Given the description of an element on the screen output the (x, y) to click on. 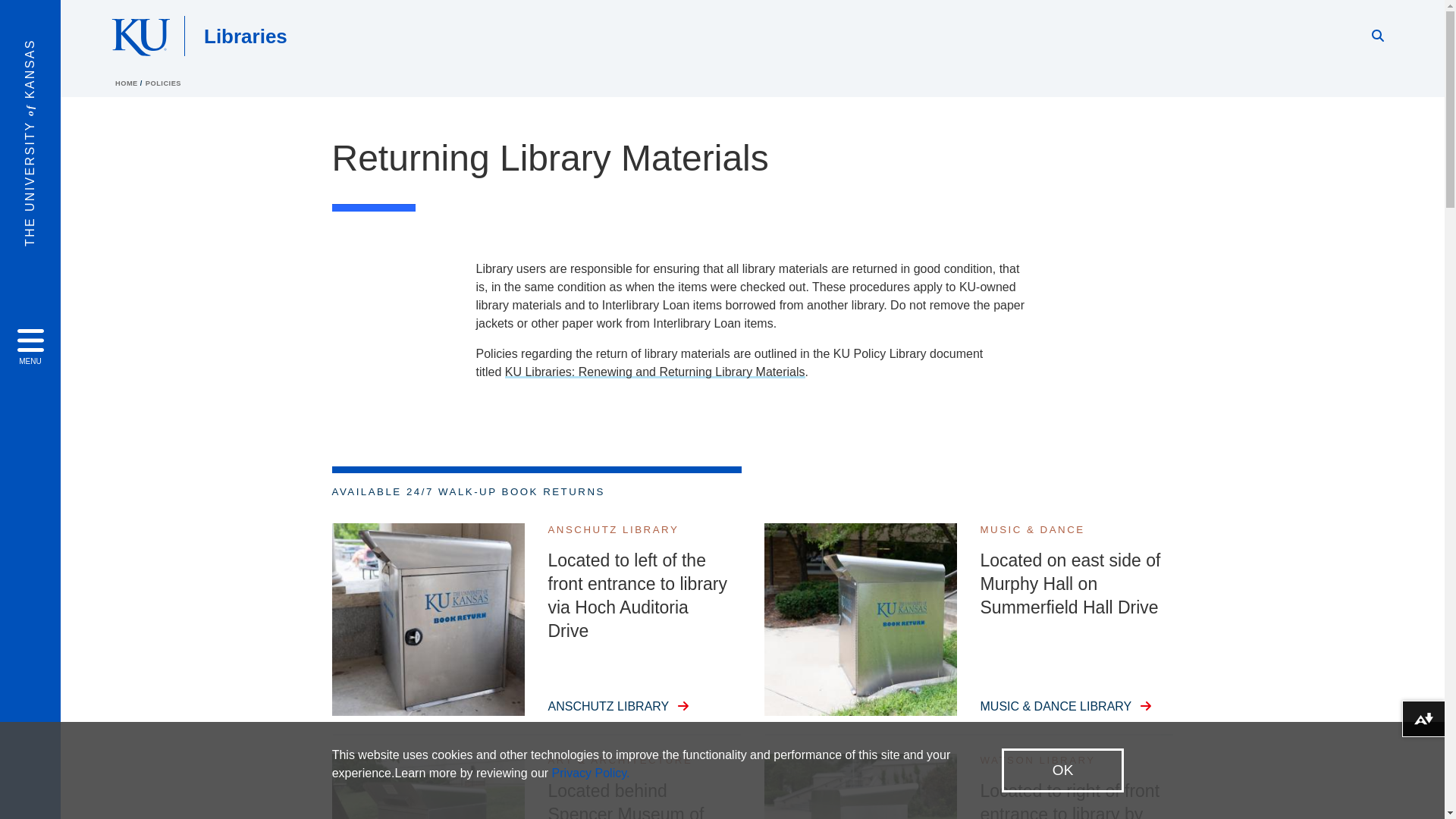
OK (1062, 770)
Privacy Policy. (590, 772)
